Given the description of an element on the screen output the (x, y) to click on. 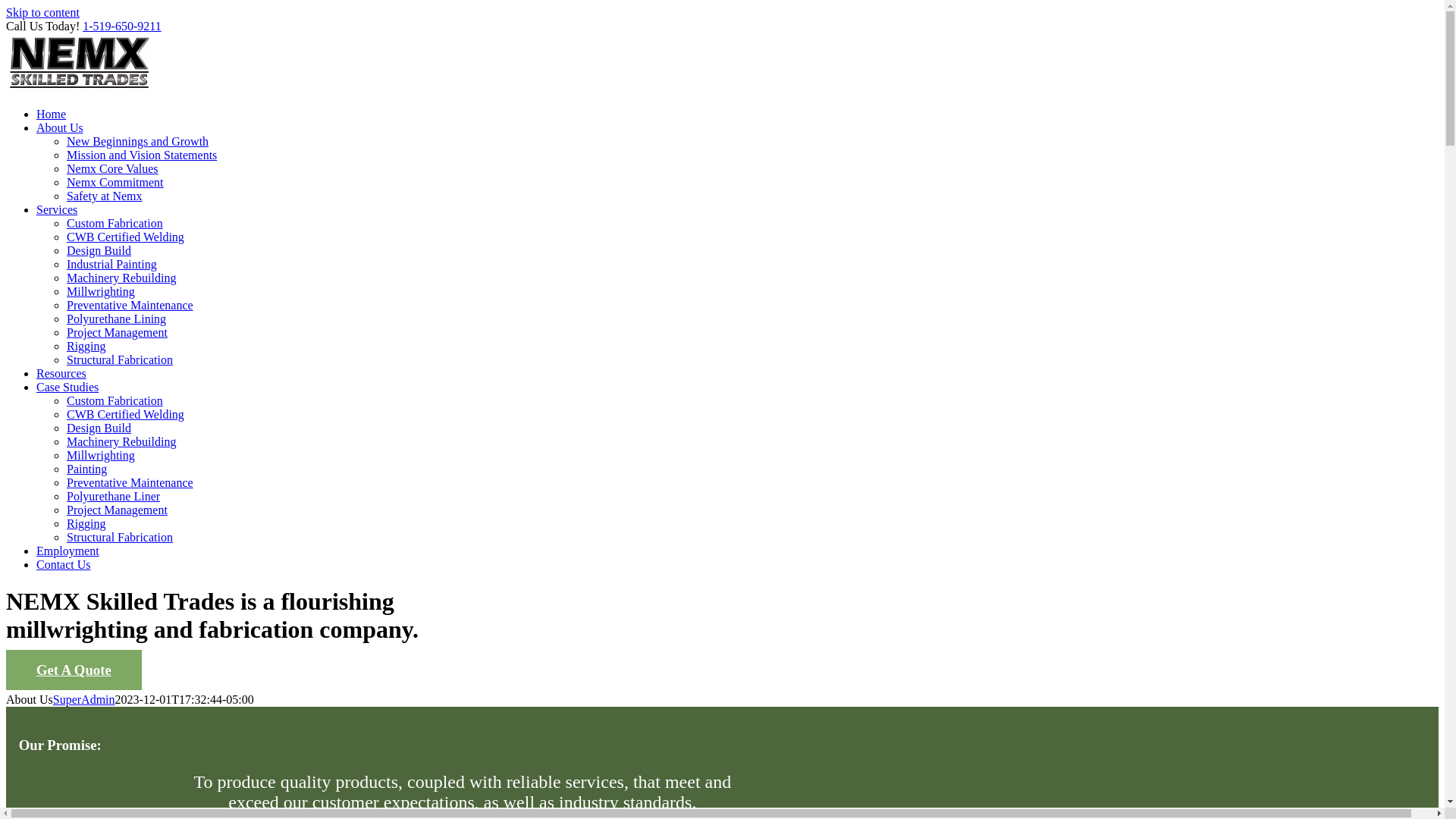
About Us (59, 127)
Resources (60, 373)
Machinery Rebuilding (121, 440)
Industrial Painting (111, 264)
SuperAdmin (83, 698)
Structural Fabrication (119, 536)
Polyurethane Liner (113, 495)
Skip to content (42, 11)
Design Build (98, 427)
Mission and Vision Statements (141, 154)
Get A Quote (73, 670)
Home (50, 113)
Polyurethane Lining (115, 318)
Safety at Nemx (104, 195)
Preventative Maintenance (129, 481)
